Given the description of an element on the screen output the (x, y) to click on. 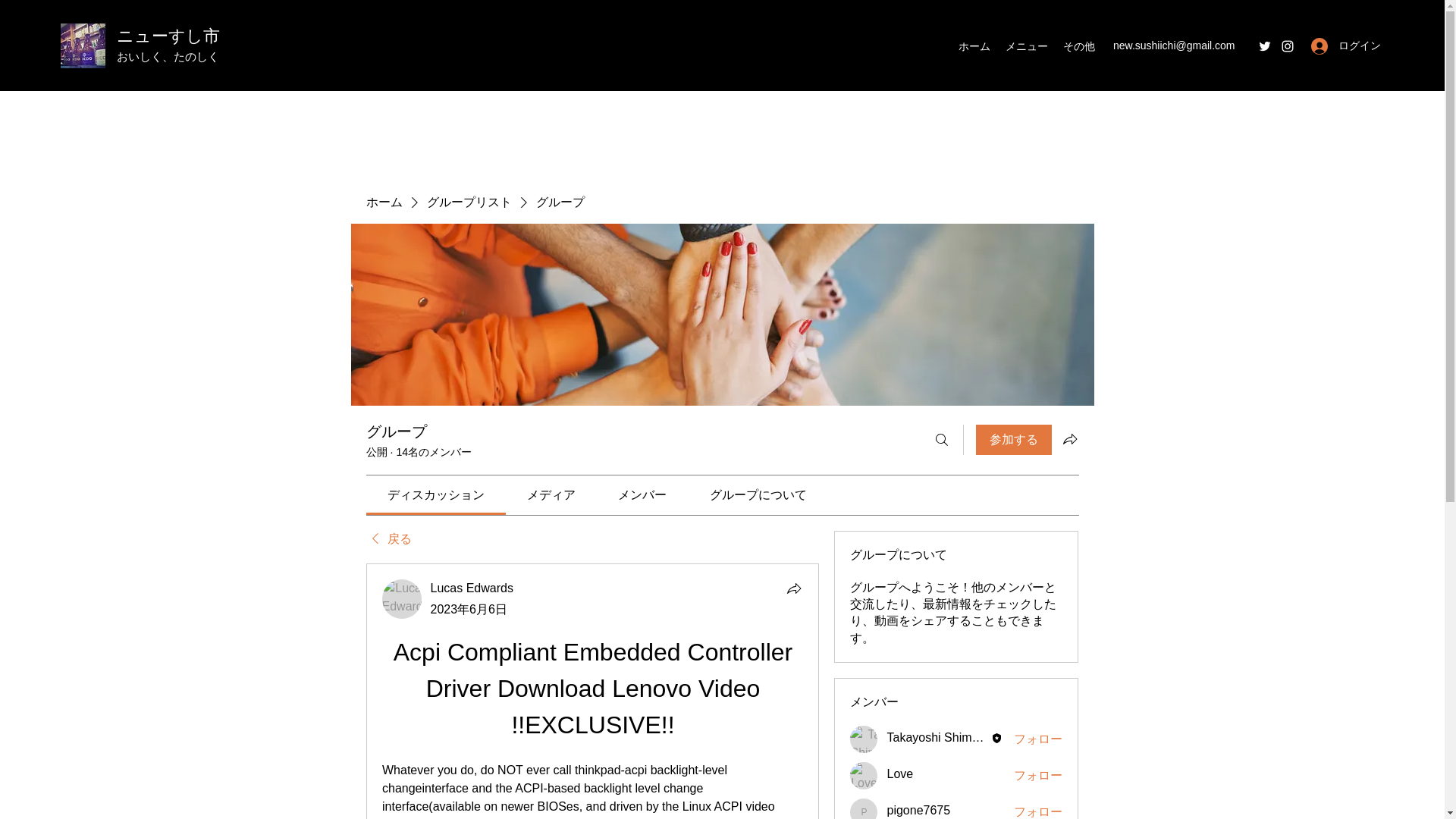
Love (863, 775)
Lucas Edwards (401, 599)
Takayoshi Shimobayashi (938, 737)
Takayoshi Shimobayashi (863, 738)
Takayoshi Shimobayashi (938, 737)
Lucas Edwards (471, 587)
pigone7675 (918, 810)
Love (899, 773)
pigone7675 (863, 808)
pigone7675 (918, 810)
